Given the description of an element on the screen output the (x, y) to click on. 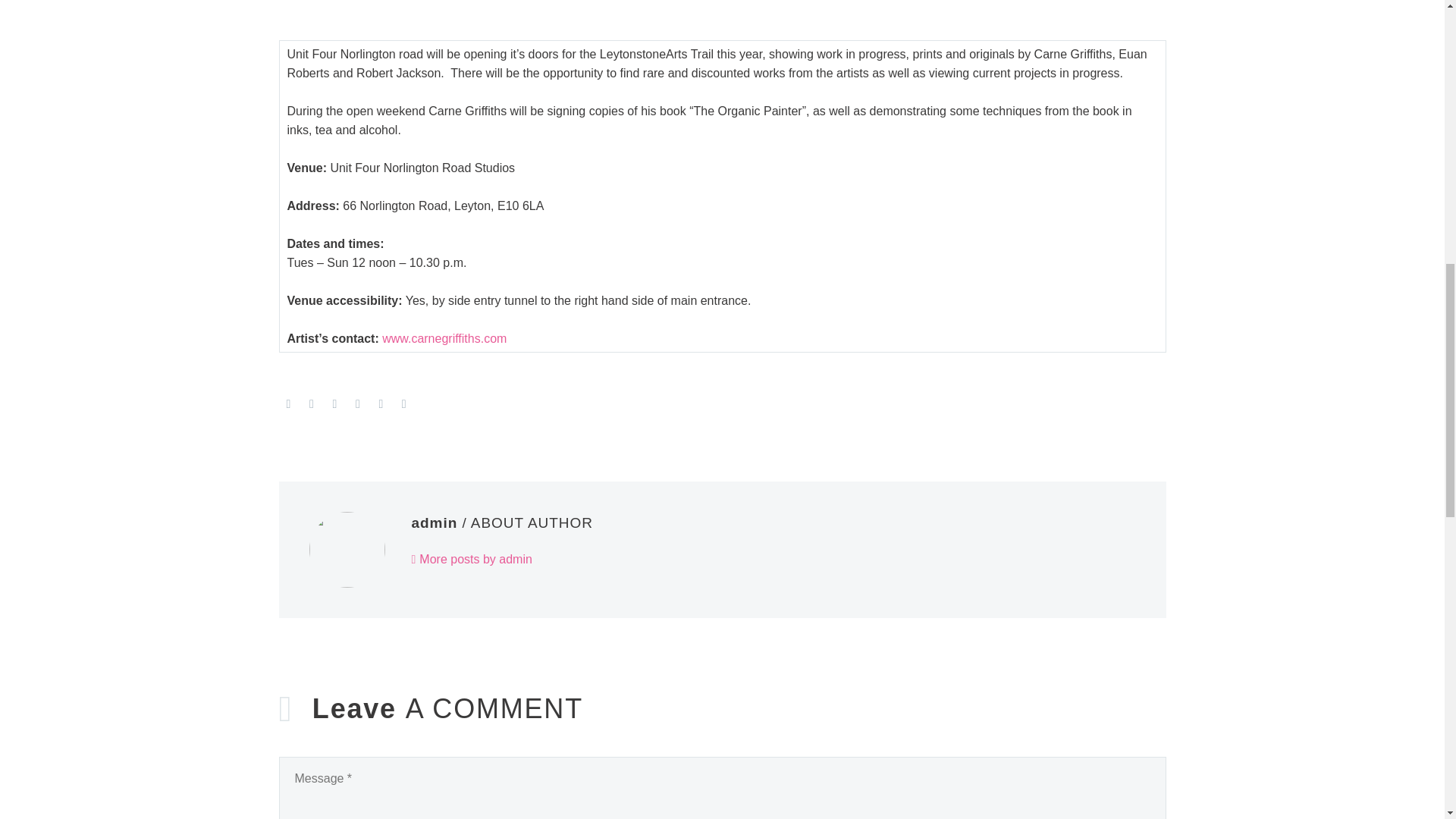
Twitter (311, 404)
LinkedIn (380, 404)
www.carnegriffiths.com (443, 338)
Facebook (288, 404)
Reddit (403, 404)
Tumblr (358, 404)
Pinterest (334, 404)
More posts by admin (470, 558)
